Given the description of an element on the screen output the (x, y) to click on. 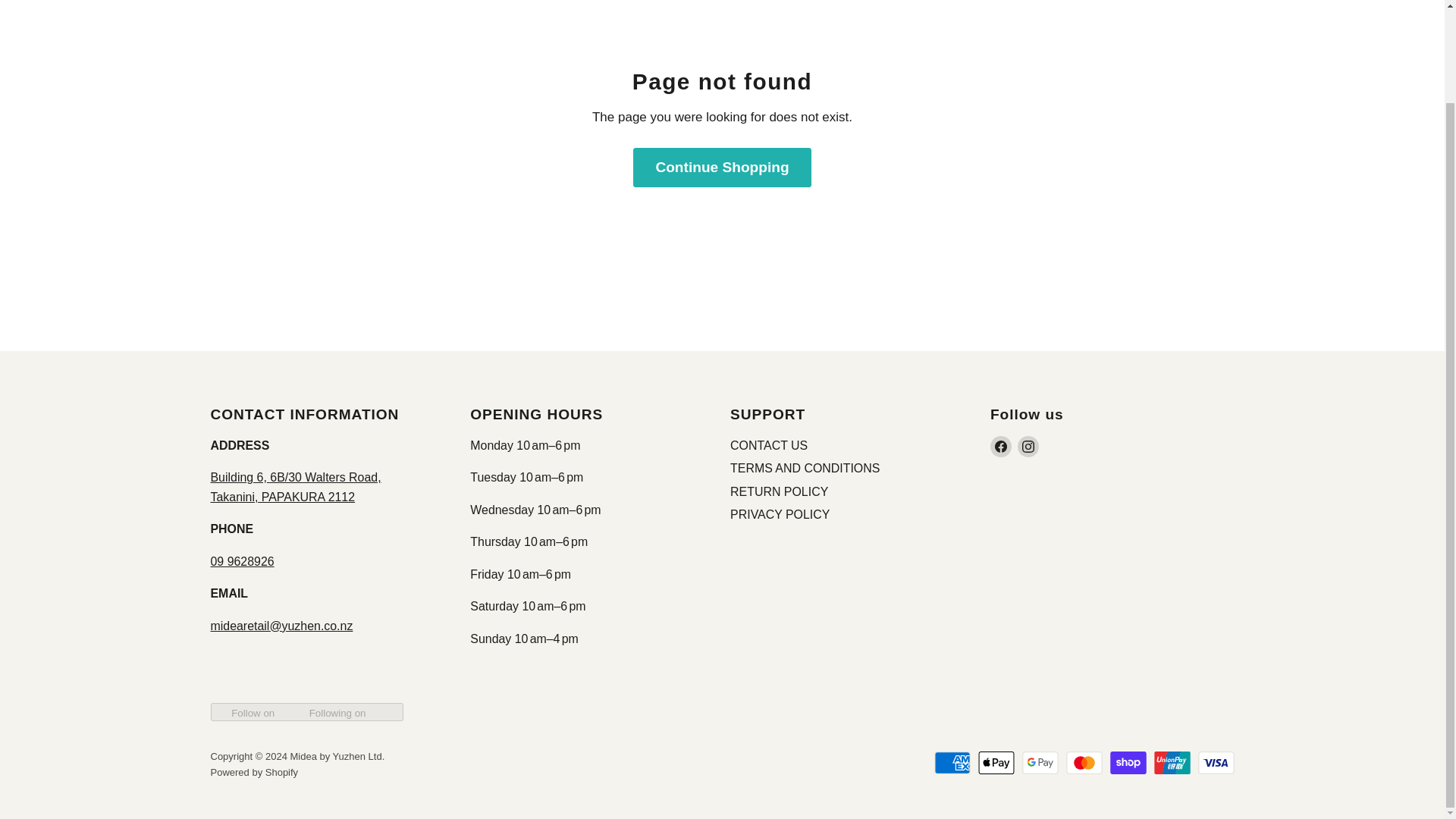
Google Pay (1040, 762)
Instagram (1028, 446)
Mastercard (1083, 762)
Union Pay (1172, 762)
American Express (952, 762)
Shop Pay (1128, 762)
Visa (1216, 762)
Facebook (1000, 446)
Apple Pay (996, 762)
